Given the description of an element on the screen output the (x, y) to click on. 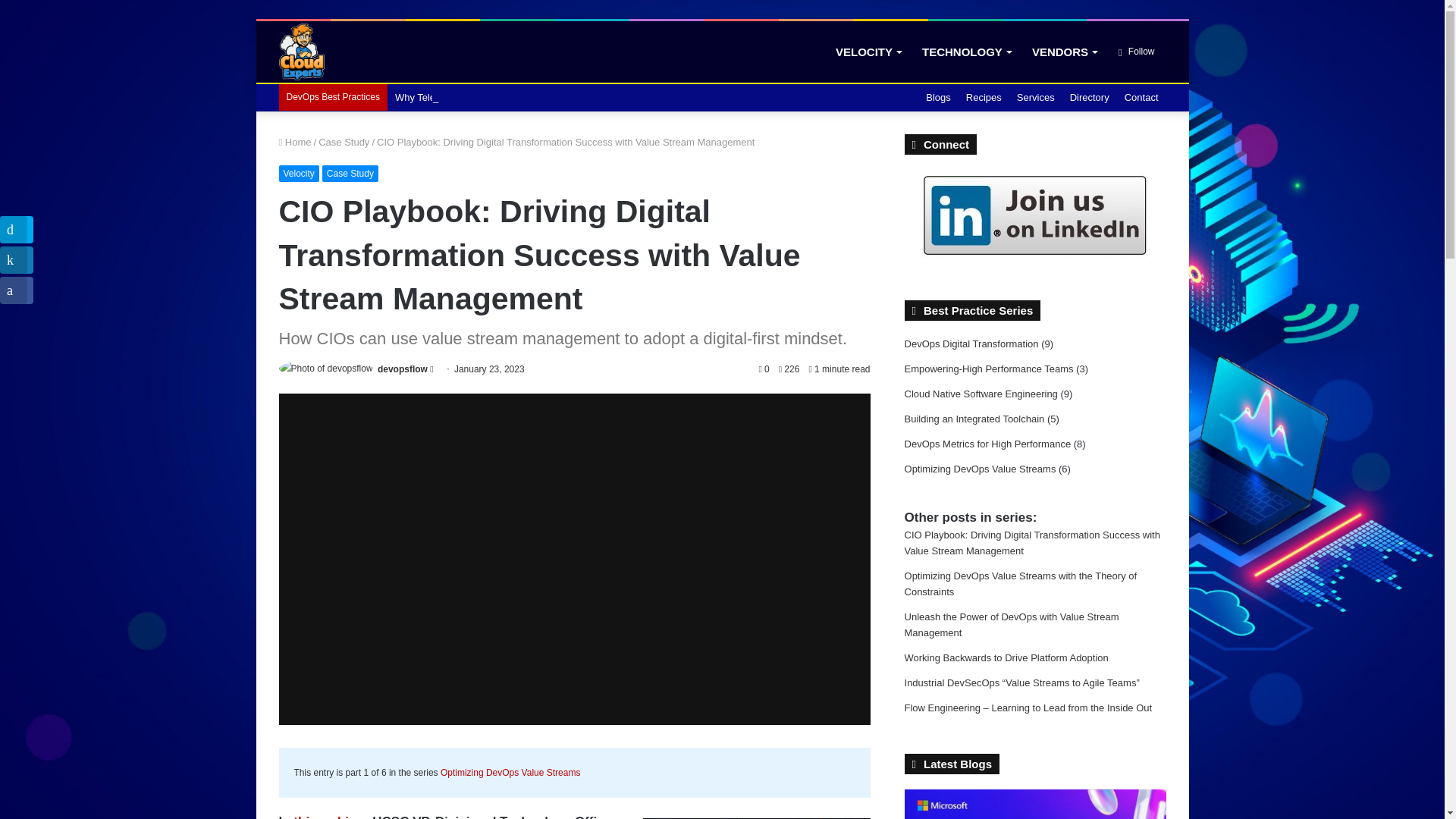
Why Telecoms Needs a Cloud Native Manifesto (498, 97)
Velocity (298, 173)
Recipes (983, 97)
VENDORS (1064, 51)
Optimizing DevOps Value Streams (510, 772)
Blogs (938, 97)
Optimizing DevOps Value Streams (510, 772)
VELOCITY (868, 51)
Contact (1141, 97)
Case Study (349, 173)
Follow (1136, 51)
Case Study (343, 142)
TECHNOLOGY (966, 51)
Unleash the Power of DevOps with Value Stream Management (1011, 624)
